Given the description of an element on the screen output the (x, y) to click on. 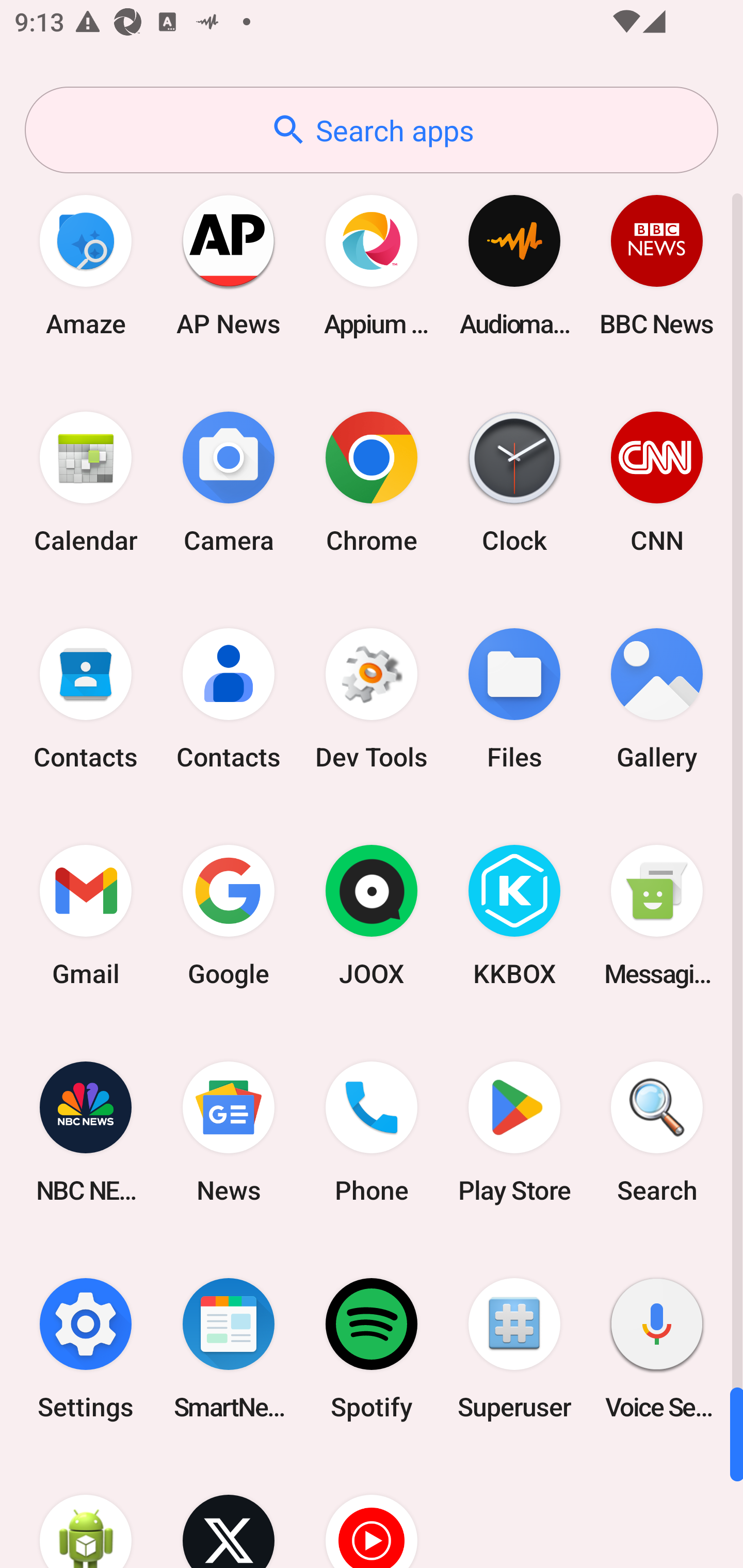
  Search apps (371, 130)
Amaze (85, 264)
AP News (228, 264)
Appium Settings (371, 264)
Audio­mack (514, 264)
BBC News (656, 264)
Calendar (85, 482)
Camera (228, 482)
Chrome (371, 482)
Clock (514, 482)
CNN (656, 482)
Contacts (85, 699)
Contacts (228, 699)
Dev Tools (371, 699)
Files (514, 699)
Gallery (656, 699)
Gmail (85, 915)
Google (228, 915)
JOOX (371, 915)
KKBOX (514, 915)
Messaging (656, 915)
NBC NEWS (85, 1131)
News (228, 1131)
Phone (371, 1131)
Play Store (514, 1131)
Search (656, 1131)
Settings (85, 1348)
SmartNews (228, 1348)
Spotify (371, 1348)
Superuser (514, 1348)
Voice Search (656, 1348)
